Given the description of an element on the screen output the (x, y) to click on. 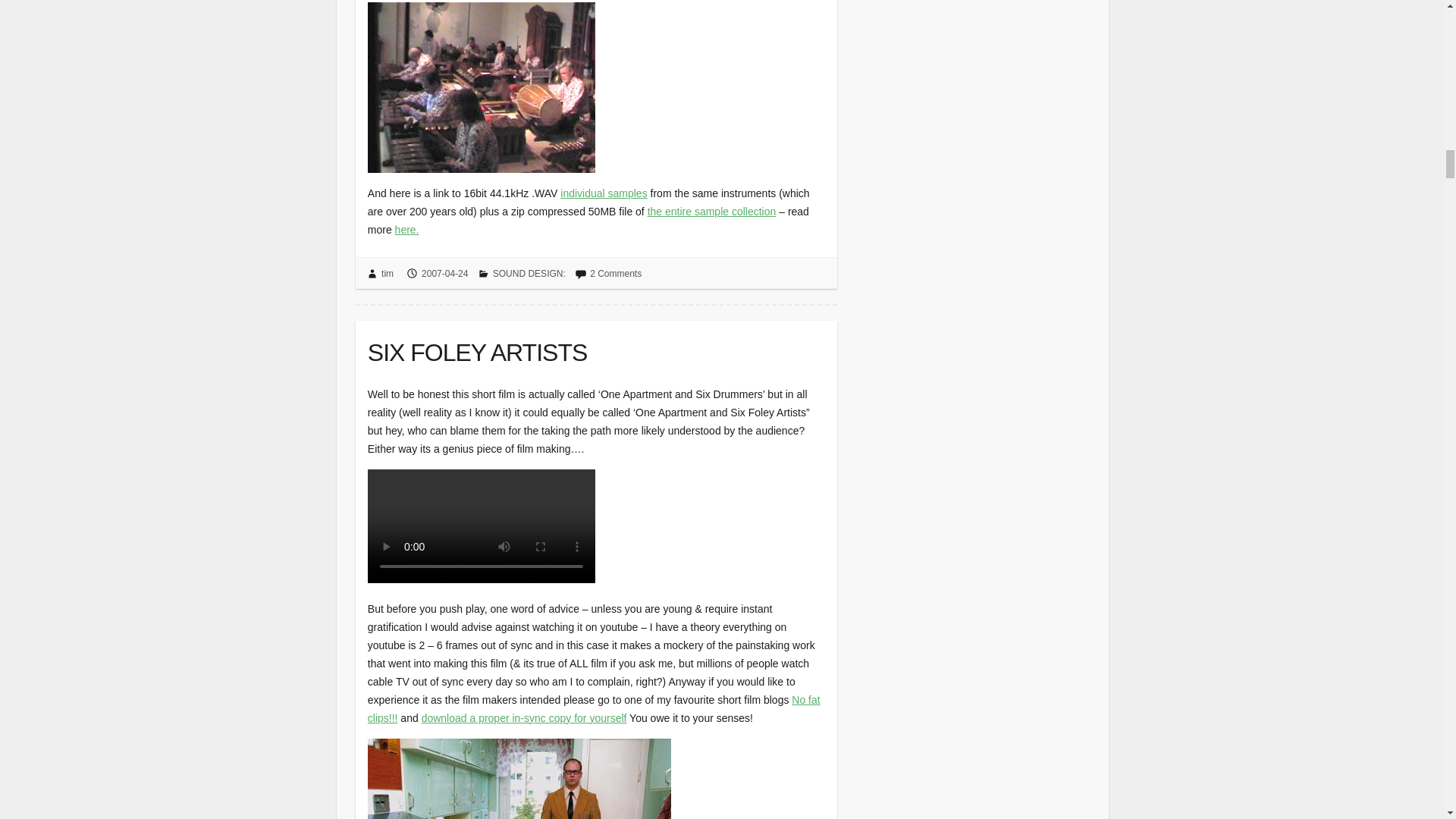
SIX FOLEY ARTISTS (596, 349)
